Given the description of an element on the screen output the (x, y) to click on. 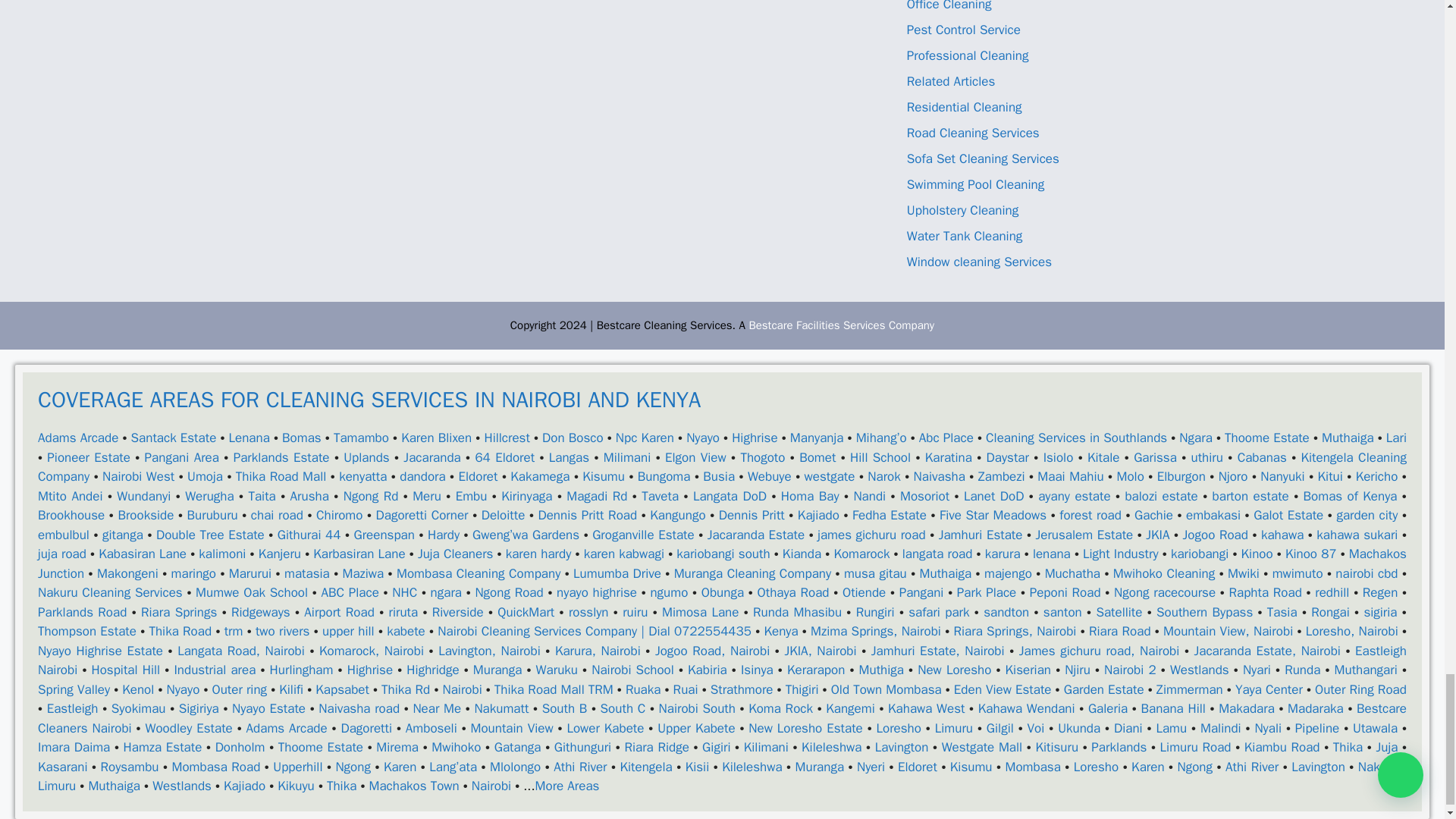
Karen Blixen (436, 437)
Cleaning Services in Nairobi (841, 325)
Tamambo (360, 437)
Lenana (248, 437)
Don Bosco (572, 437)
COVERAGE AREAS FOR CLEANING SERVICES IN NAIROBI AND KENYA (721, 416)
Santack Estate (173, 437)
Adams Arcade (77, 437)
Npc Karen (644, 437)
Hillcrest (506, 437)
Bomas (301, 437)
